Given the description of an element on the screen output the (x, y) to click on. 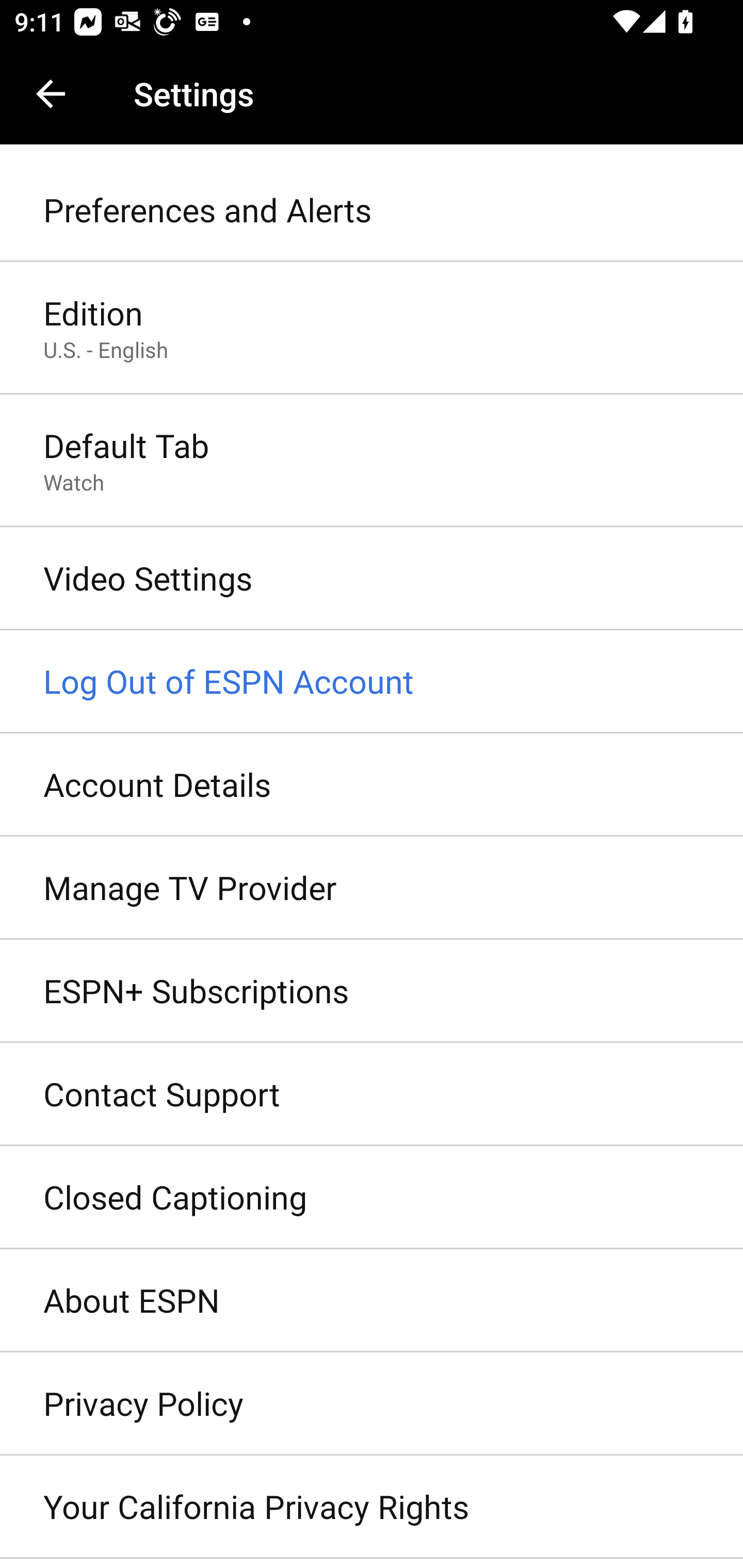
Navigate up (50, 93)
Preferences and Alerts (371, 209)
Edition U.S. - English (371, 328)
Default Tab Watch (371, 461)
Video Settings (371, 578)
Log Out of ESPN Account (371, 681)
Account Details (371, 785)
Manage TV Provider (371, 888)
ESPN+ Subscriptions (371, 990)
Contact Support (371, 1094)
Closed Captioning (371, 1197)
About ESPN (371, 1301)
Privacy Policy (371, 1403)
Your California Privacy Rights (371, 1506)
